Given the description of an element on the screen output the (x, y) to click on. 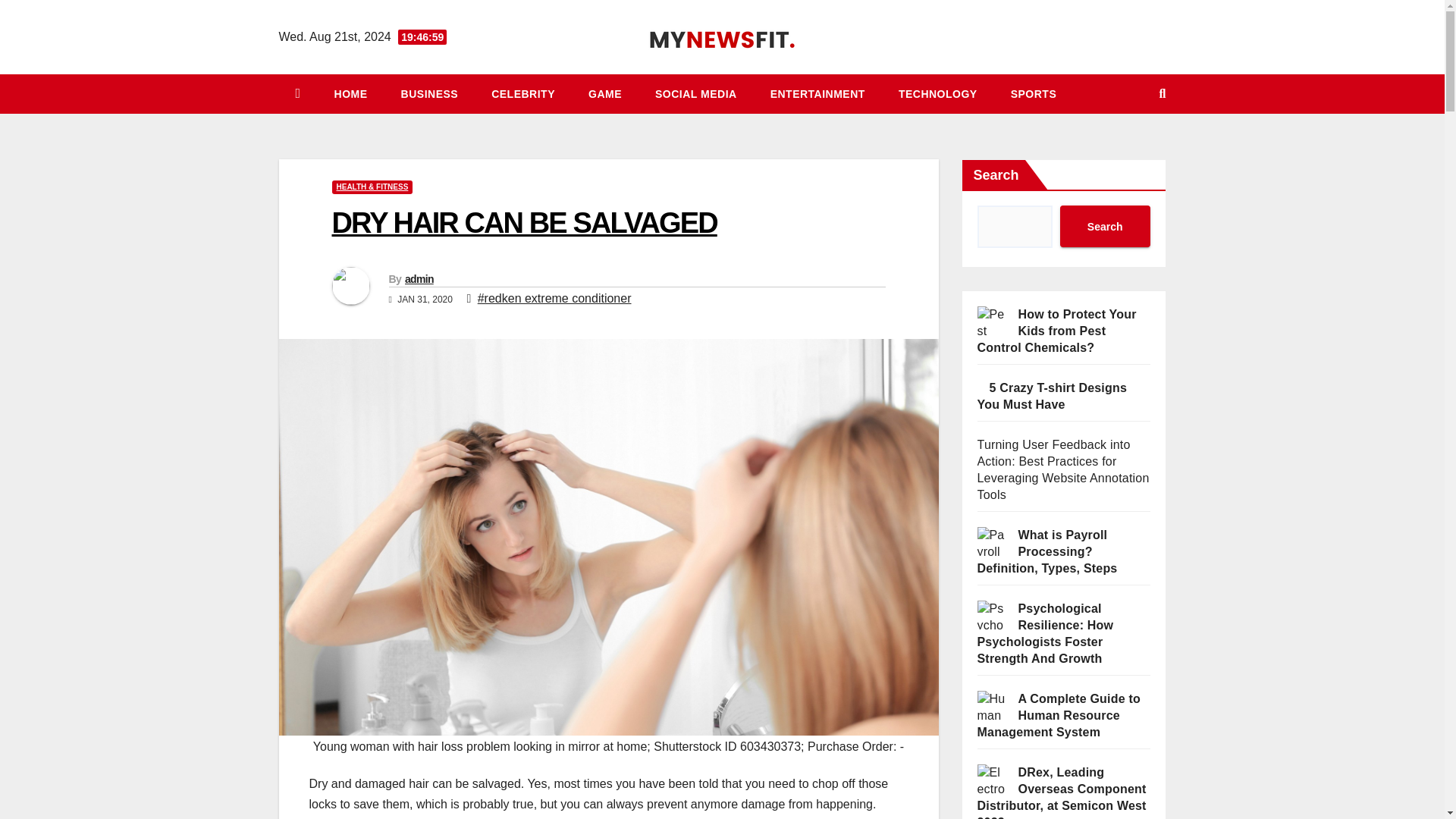
SPORTS (1034, 93)
Celebrity (523, 93)
Business (430, 93)
ENTERTAINMENT (818, 93)
Permalink to: DRY HAIR CAN BE SALVAGED (524, 223)
Sports (1034, 93)
Technology (938, 93)
GAME (605, 93)
SOCIAL MEDIA (696, 93)
CELEBRITY (523, 93)
